Given the description of an element on the screen output the (x, y) to click on. 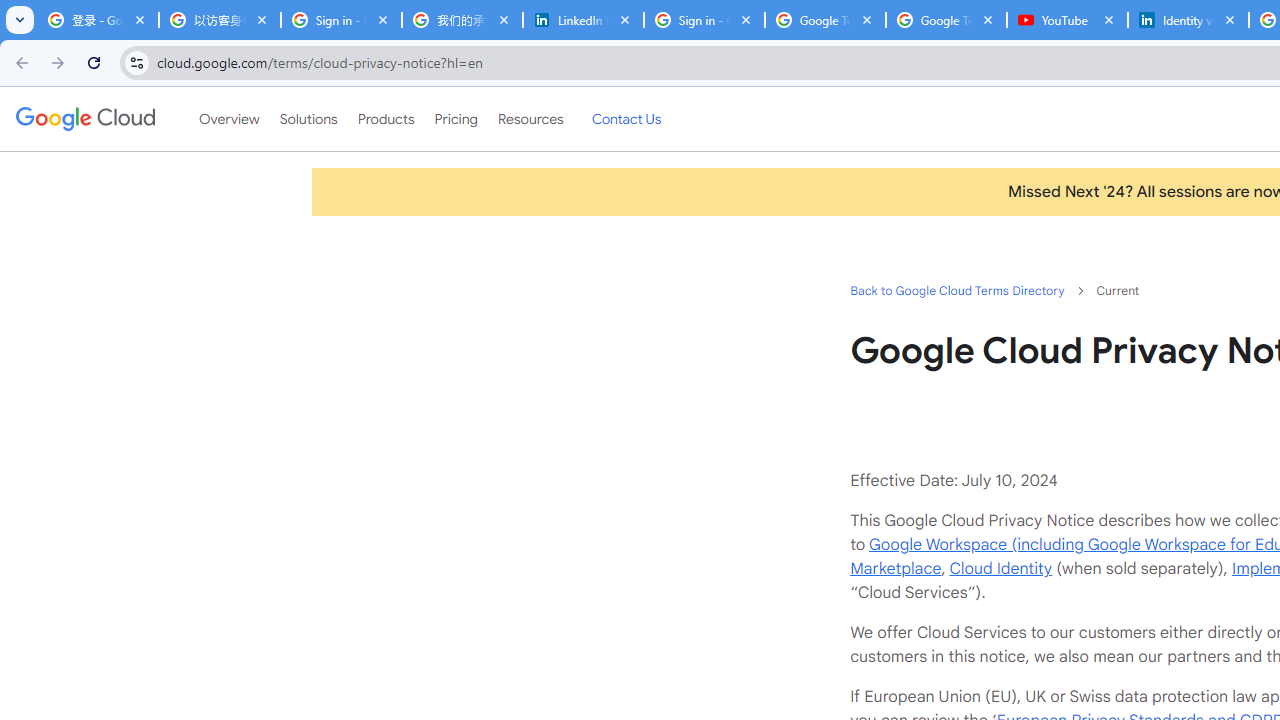
Sign in - Google Accounts (340, 20)
Sign in - Google Accounts (704, 20)
LinkedIn Privacy Policy (583, 20)
Products (385, 119)
Pricing (455, 119)
Back to Google Cloud Terms Directory (956, 290)
